Given the description of an element on the screen output the (x, y) to click on. 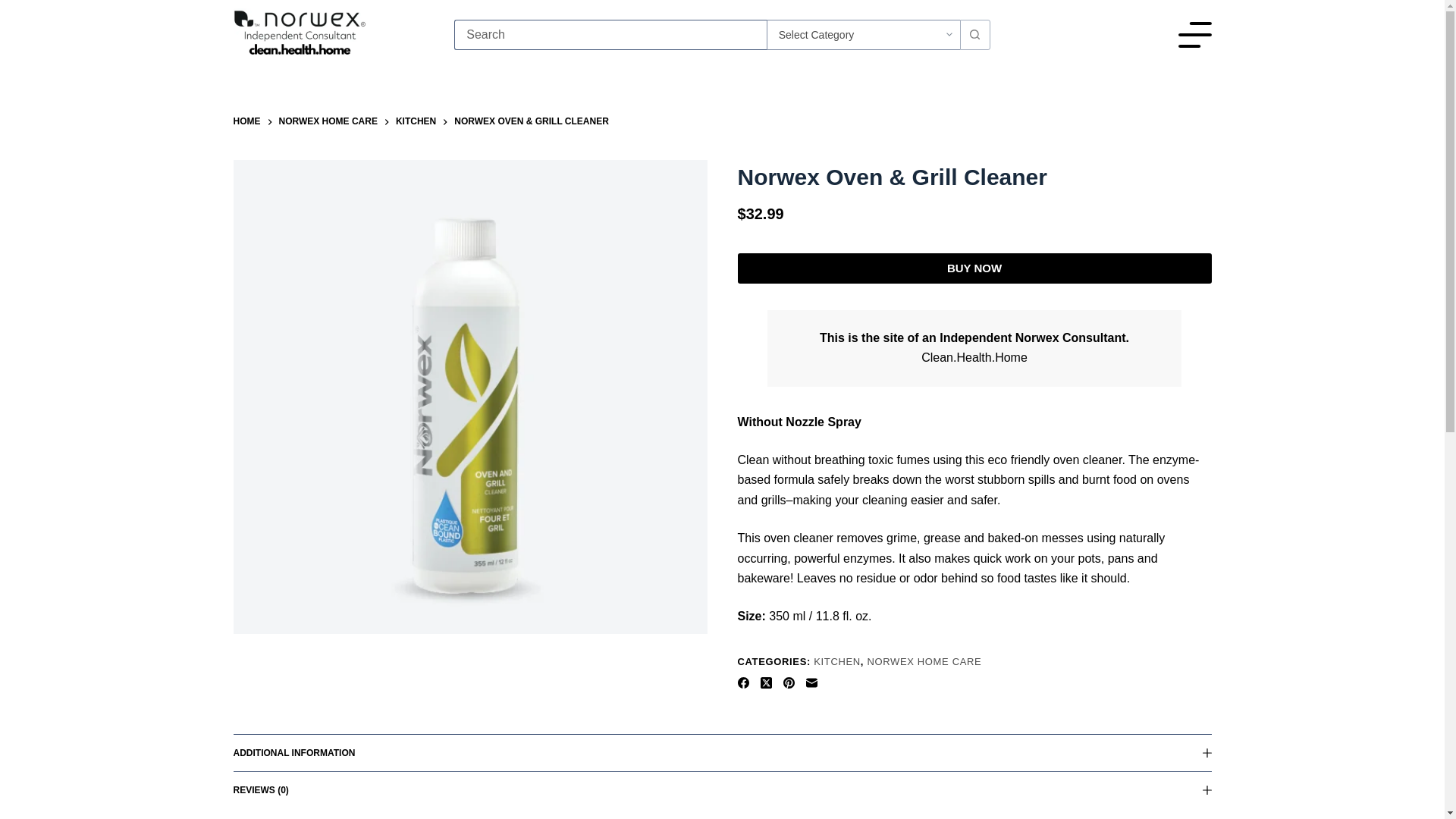
Skip to content (15, 7)
Search for... (609, 34)
